Given the description of an element on the screen output the (x, y) to click on. 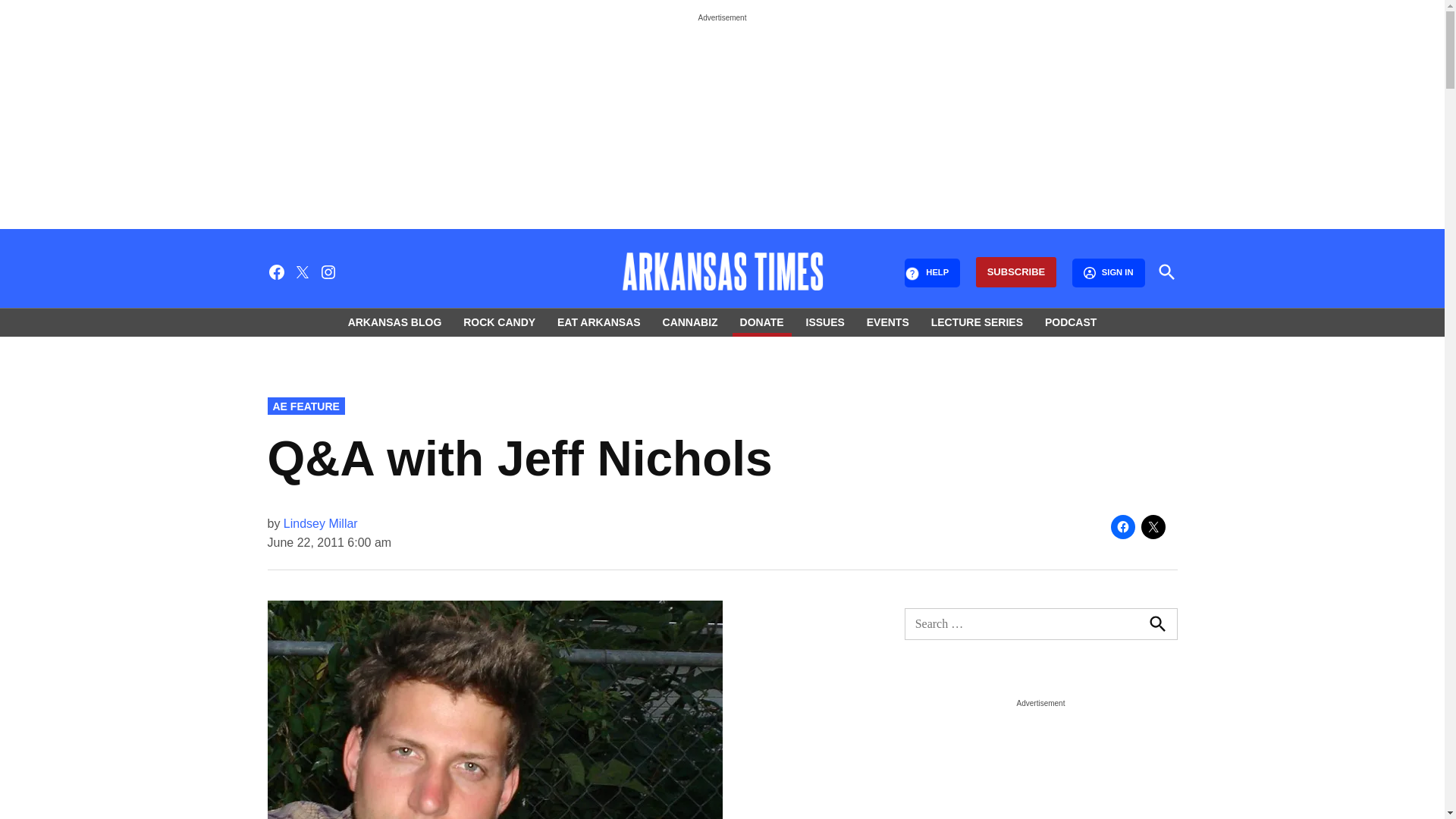
ISSUES (824, 322)
Instagram (327, 271)
ARKANSAS BLOG (398, 322)
PODCAST (1066, 322)
Click to share on Facebook (1121, 526)
SUBSCRIBE (1016, 272)
CANNABIZ (690, 322)
EVENTS (888, 322)
Twitter (301, 271)
Facebook Page (275, 271)
SIGN IN (1107, 272)
3rd party ad content (1040, 765)
EAT ARKANSAS (598, 322)
HELP (931, 272)
